Given the description of an element on the screen output the (x, y) to click on. 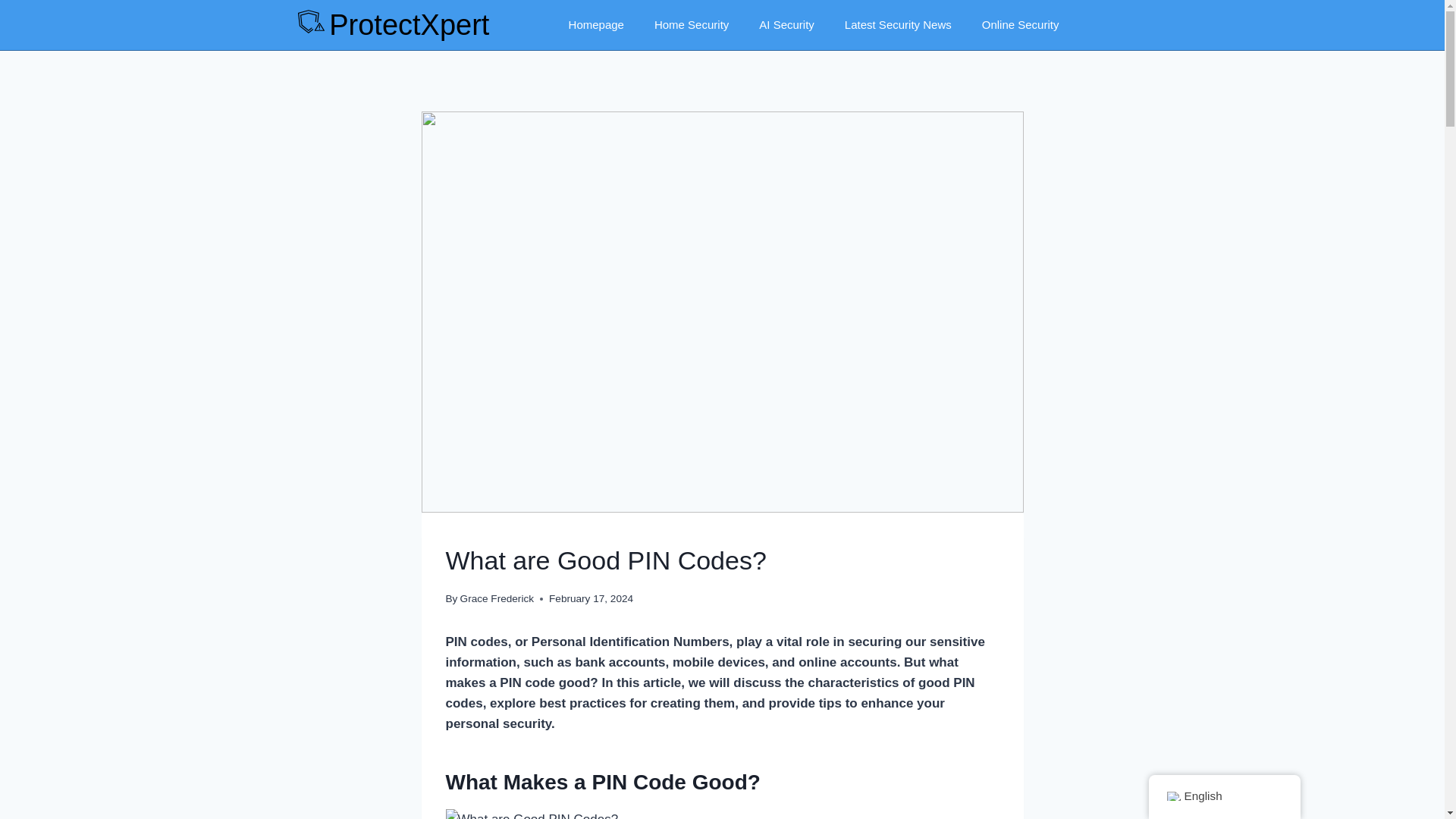
Homepage (596, 24)
ProtectXpert (409, 24)
Latest Security News (897, 24)
Home Security (691, 24)
AI Security (786, 24)
Grace Frederick (497, 598)
Online Security (1020, 24)
English (1172, 795)
